Given the description of an element on the screen output the (x, y) to click on. 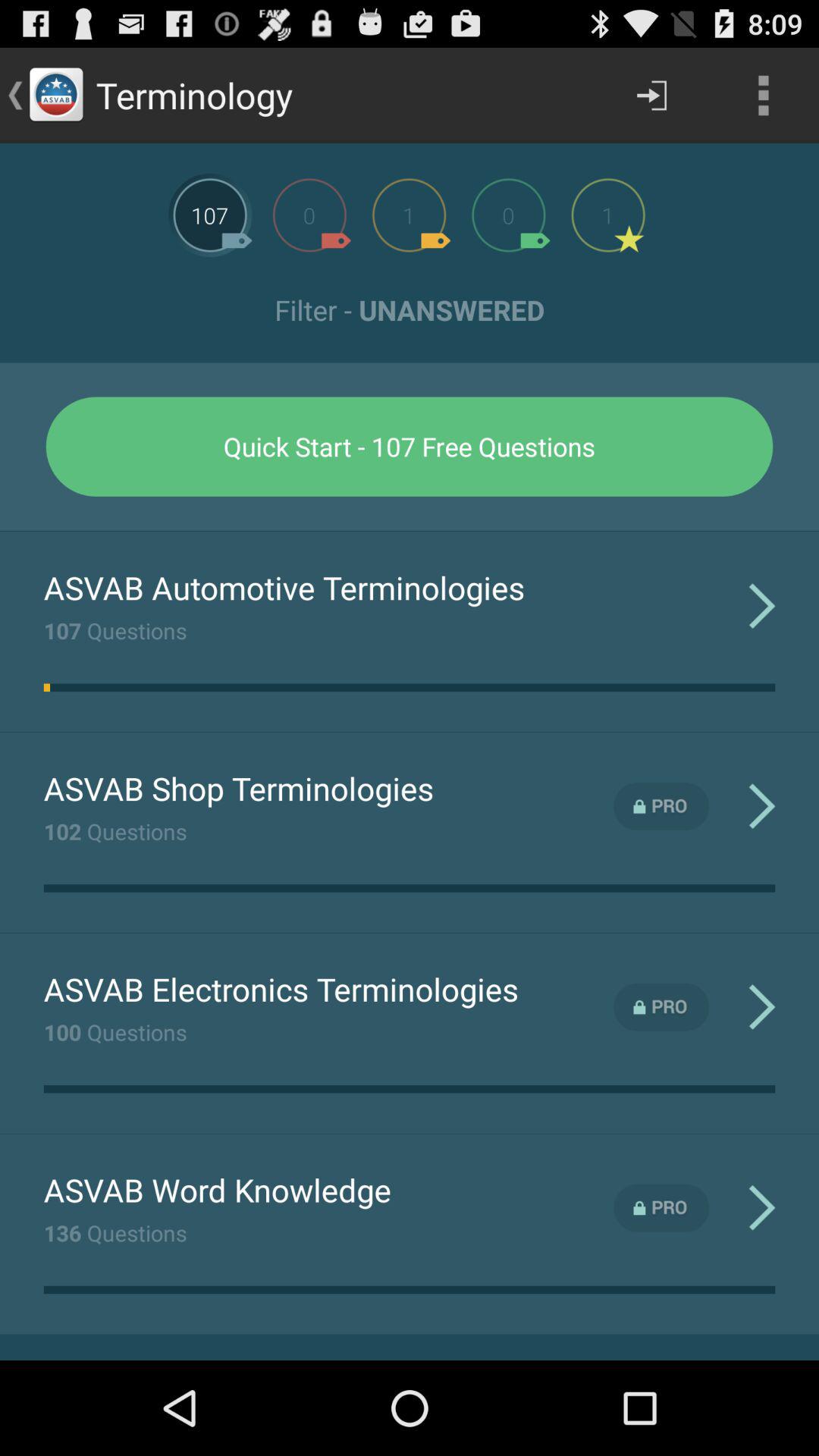
turn on icon to the right of the terminology (651, 95)
